Given the description of an element on the screen output the (x, y) to click on. 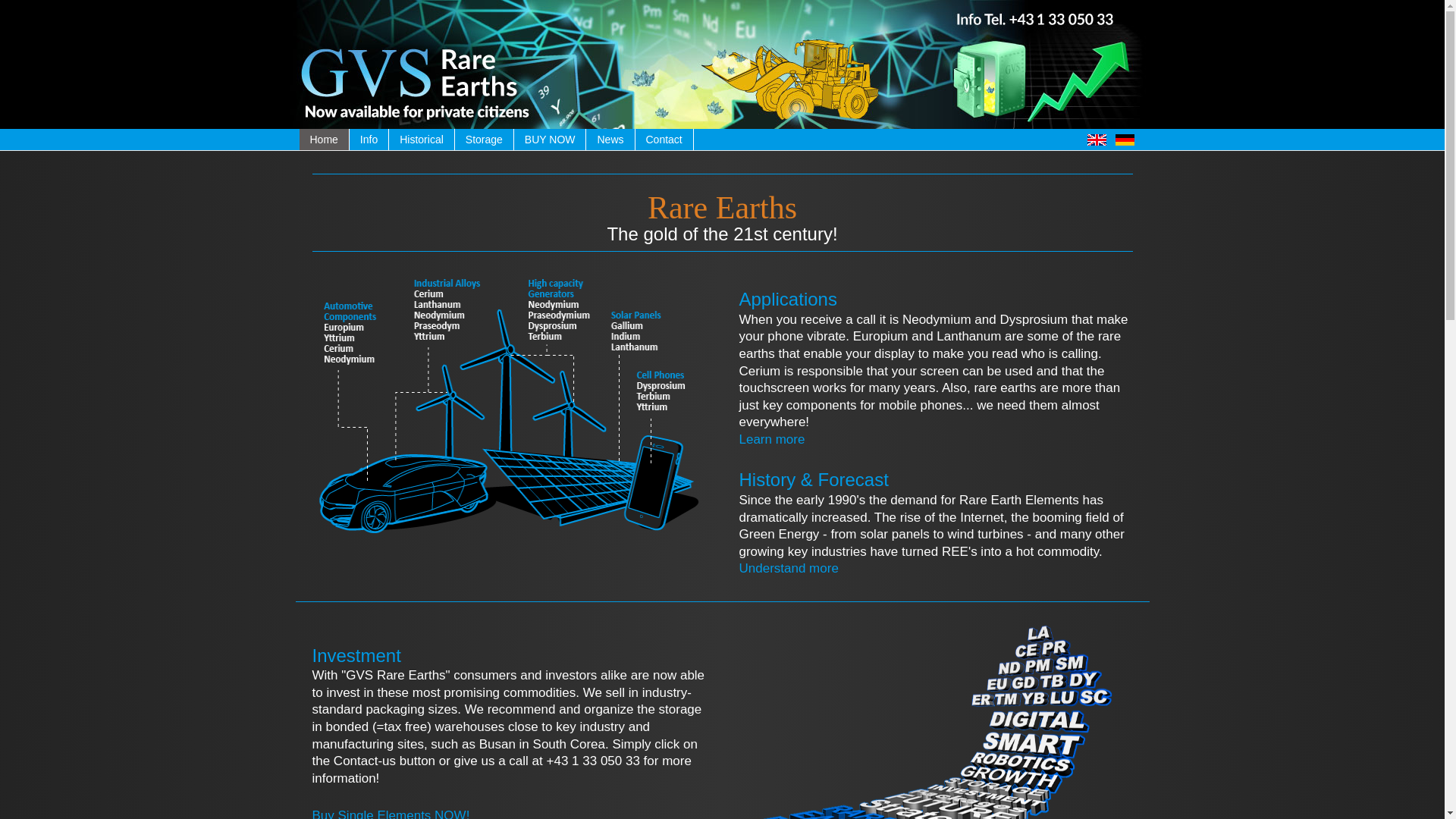
Buy Single Elements NOW! (391, 813)
Purchase Rare Elements (549, 138)
Contact (664, 138)
Info (368, 138)
Storage (483, 138)
Historical (421, 138)
Home (323, 138)
News (610, 138)
Storage (483, 138)
Contact (664, 138)
Understand more (788, 568)
Home (323, 138)
News (610, 138)
Learn more (771, 439)
Historical (421, 138)
